Given the description of an element on the screen output the (x, y) to click on. 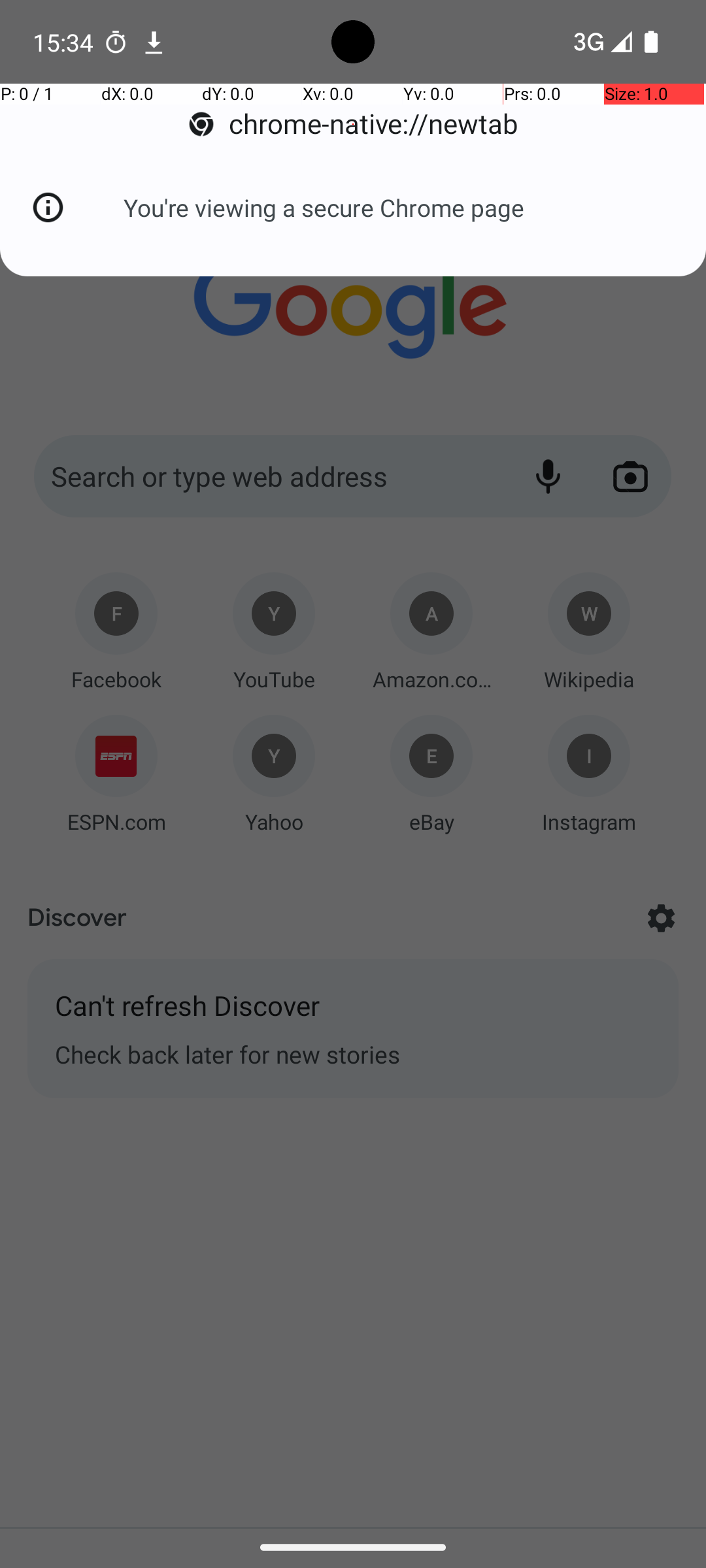
You're viewing a secure Chrome page Element type: android.widget.TextView (323, 207)
chrome-native://newtab Element type: android.widget.TextView (352, 124)
Chrome notification: m.youtube.com Element type: android.widget.ImageView (153, 41)
